Given the description of an element on the screen output the (x, y) to click on. 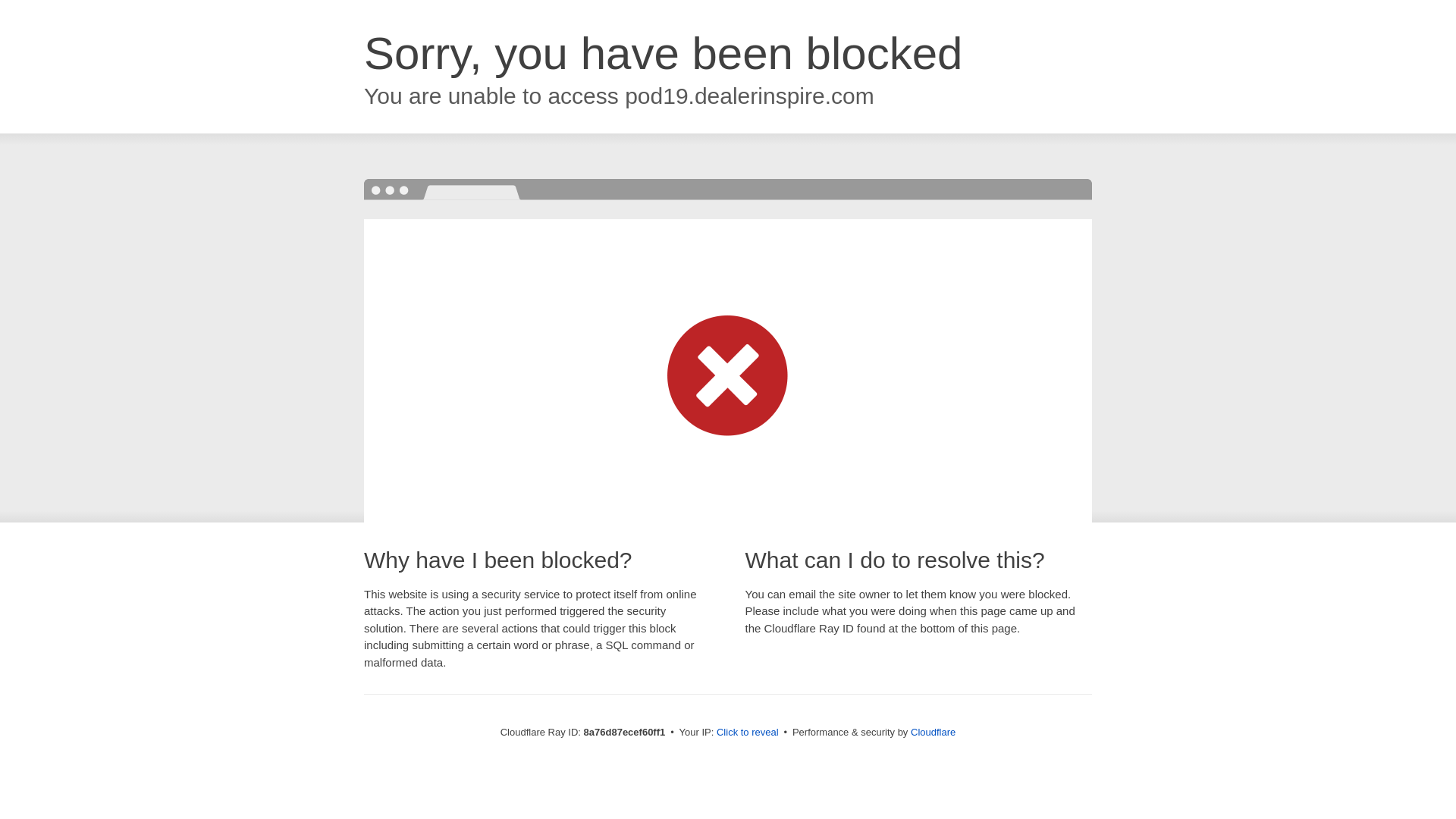
Cloudflare (933, 731)
Click to reveal (747, 732)
